Given the description of an element on the screen output the (x, y) to click on. 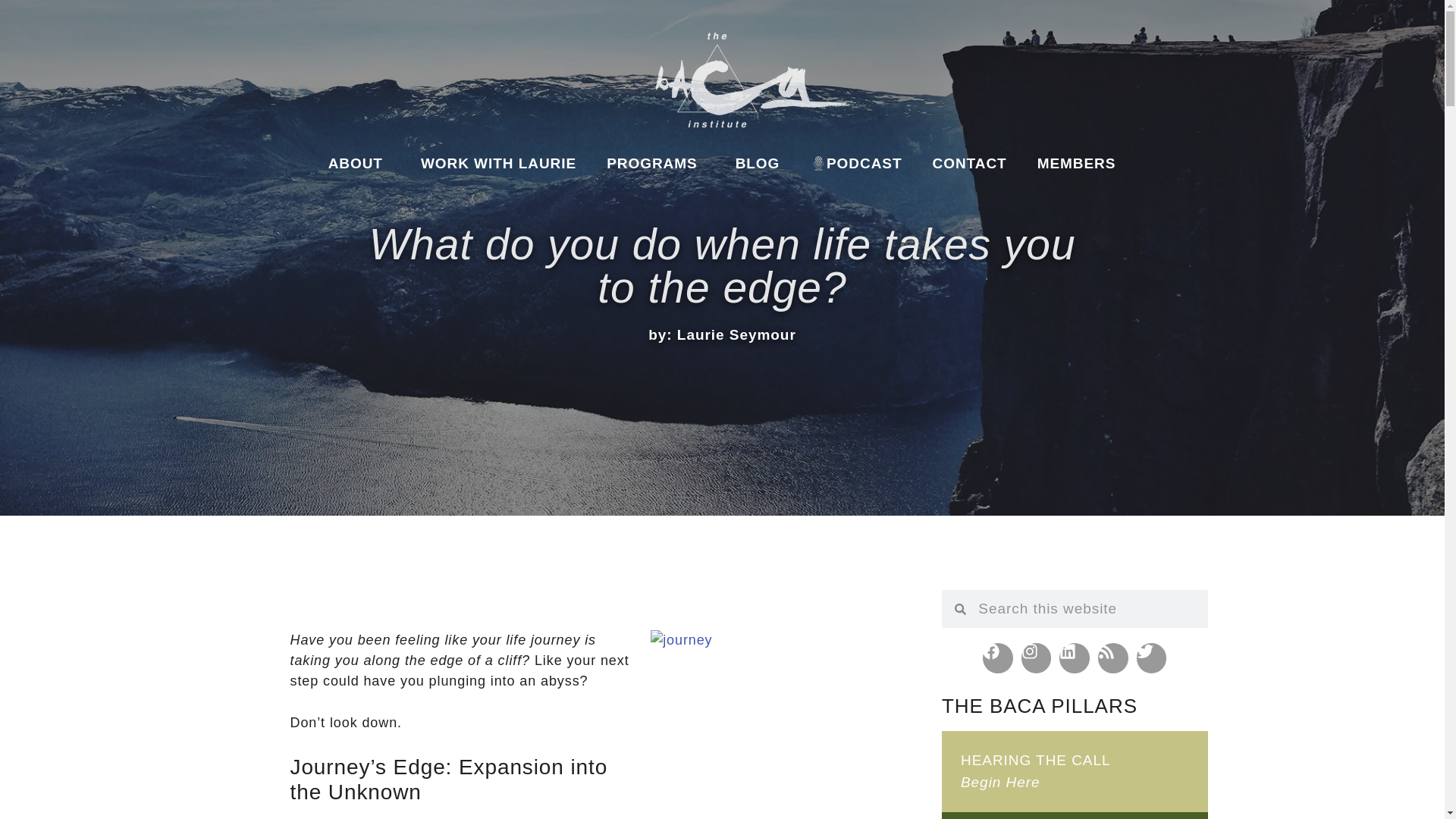
MEMBERS (1076, 163)
PROGRAMS (655, 163)
ABOUT (359, 163)
CONTACT (969, 163)
BLOG (757, 163)
PODCAST (855, 163)
WORK WITH LAURIE (498, 163)
